Given the description of an element on the screen output the (x, y) to click on. 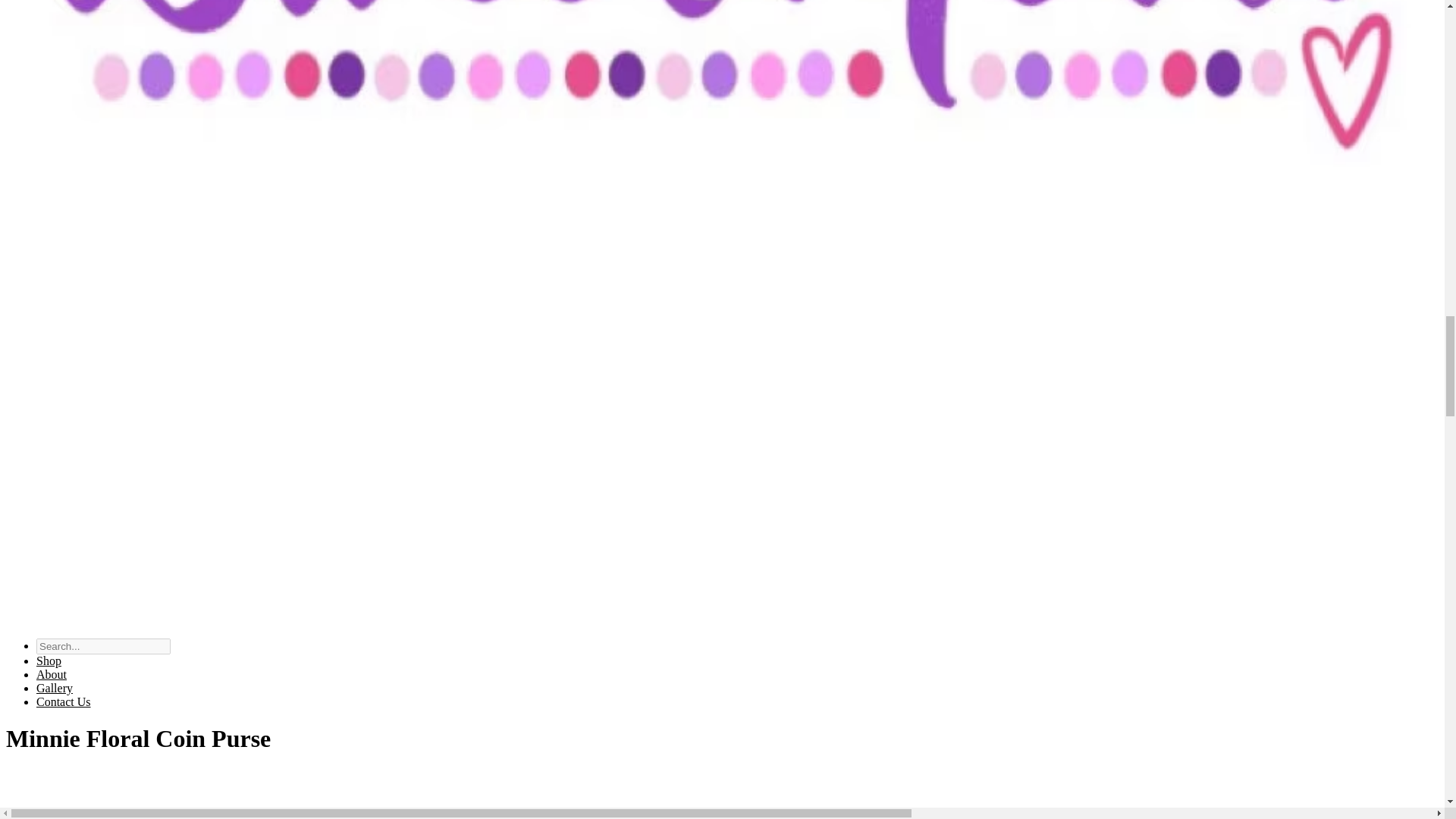
Gallery (54, 687)
Contact Us (63, 701)
About (51, 674)
Shop (48, 660)
